Given the description of an element on the screen output the (x, y) to click on. 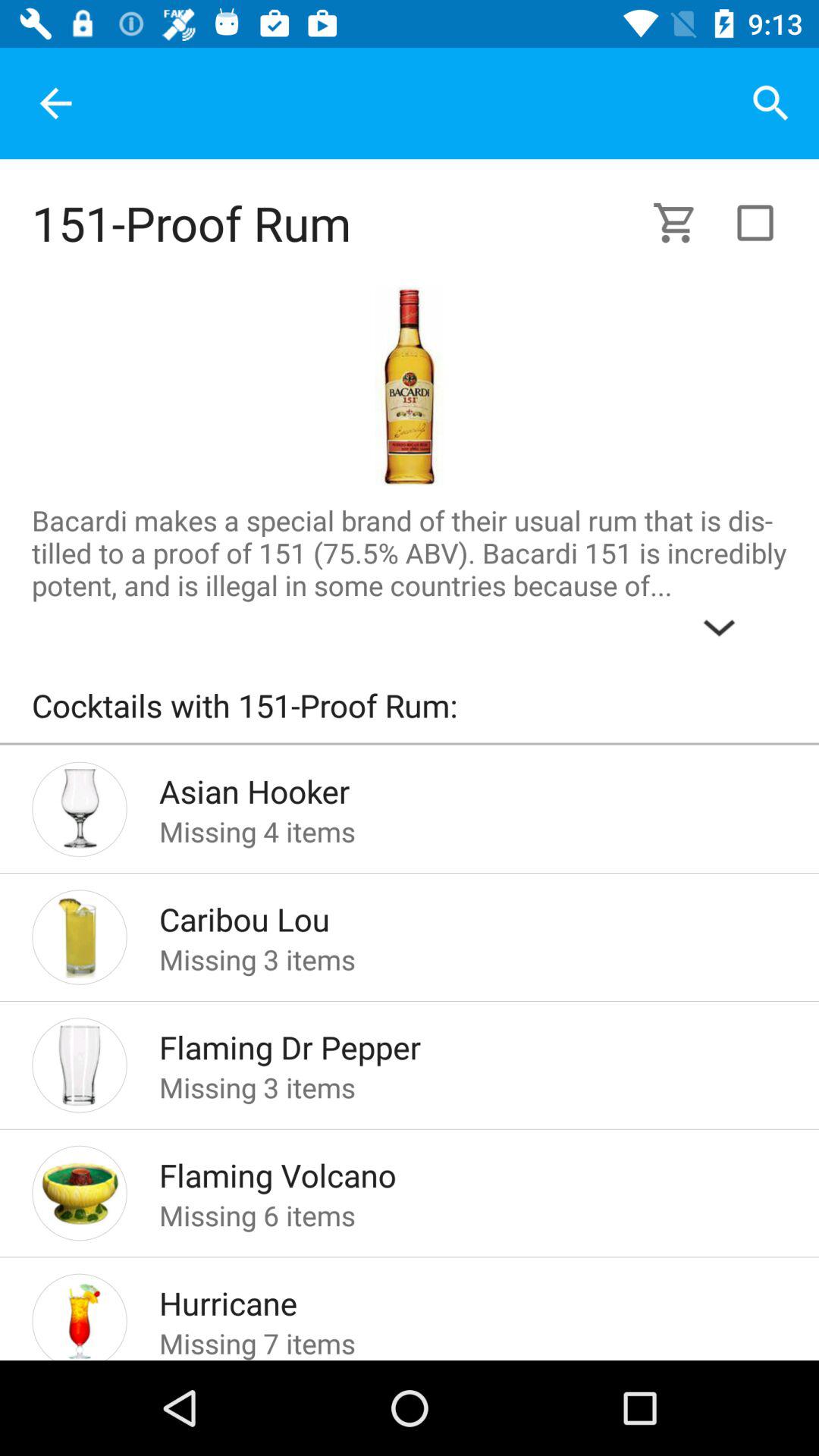
flip to asian hooker icon (449, 786)
